Given the description of an element on the screen output the (x, y) to click on. 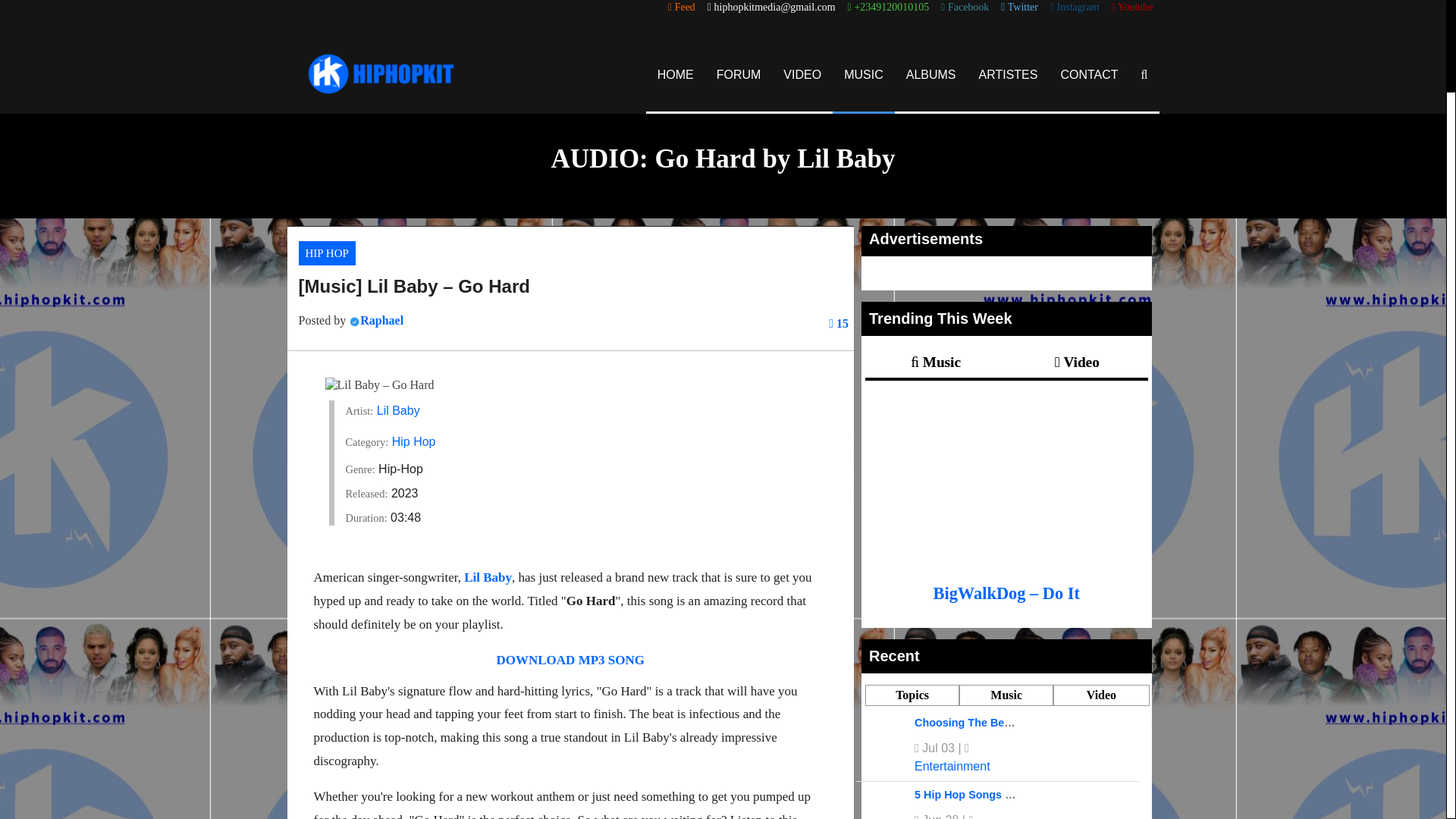
CONTACT (1088, 74)
Facebook (964, 7)
HIP HOP (326, 252)
Entertainment (952, 766)
Instagram (1074, 7)
5 Hip Hop Songs Inspired By Gambling (1016, 794)
FORUM (738, 74)
Raphael (381, 319)
Lil Baby (488, 577)
ALBUMS (931, 74)
15 (838, 323)
Lil Baby (398, 410)
DOWNLOAD MP3 SONG (570, 659)
Feed (681, 7)
Hip Hop (413, 440)
